Given the description of an element on the screen output the (x, y) to click on. 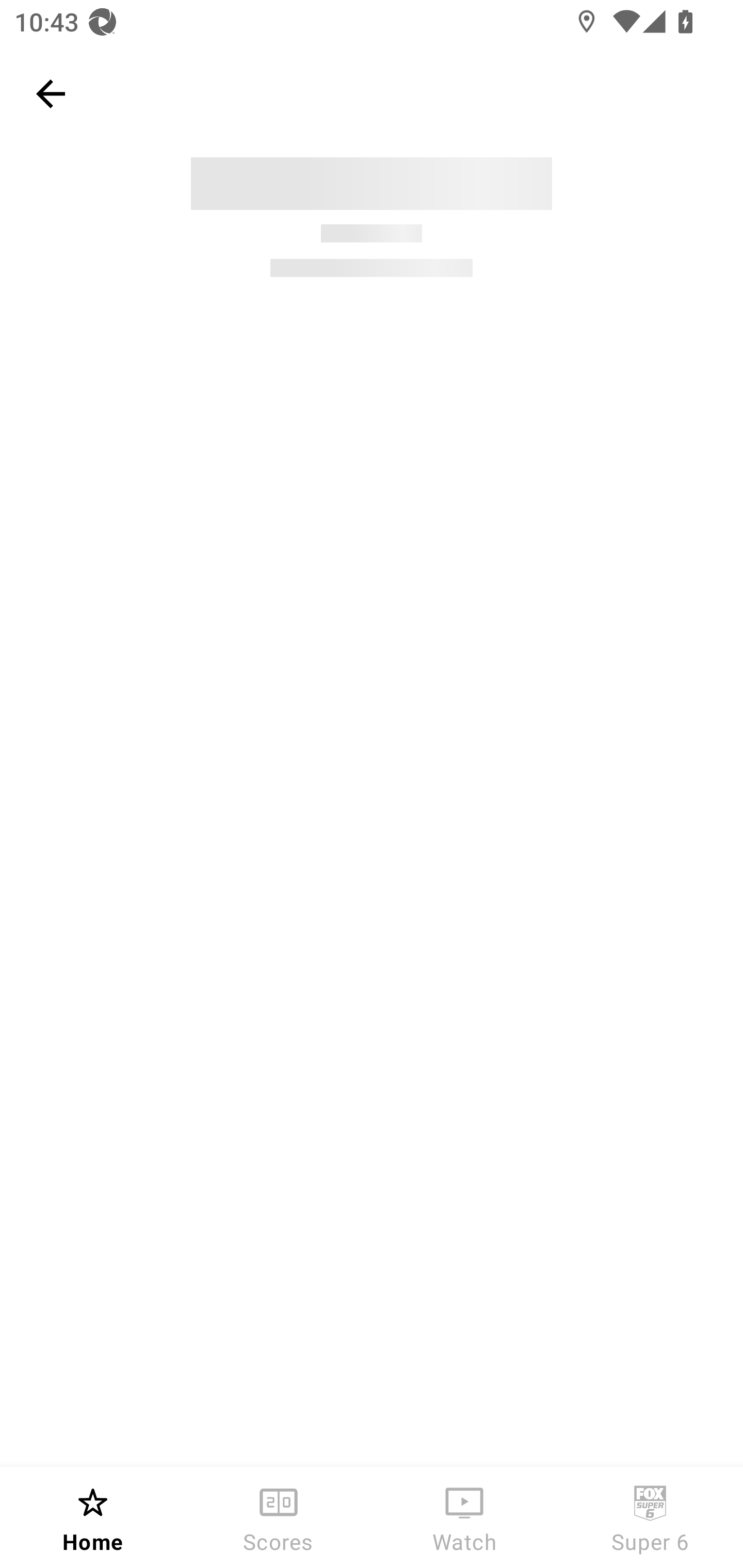
Navigate up (50, 93)
Scores (278, 1517)
Watch (464, 1517)
Super 6 (650, 1517)
